Given the description of an element on the screen output the (x, y) to click on. 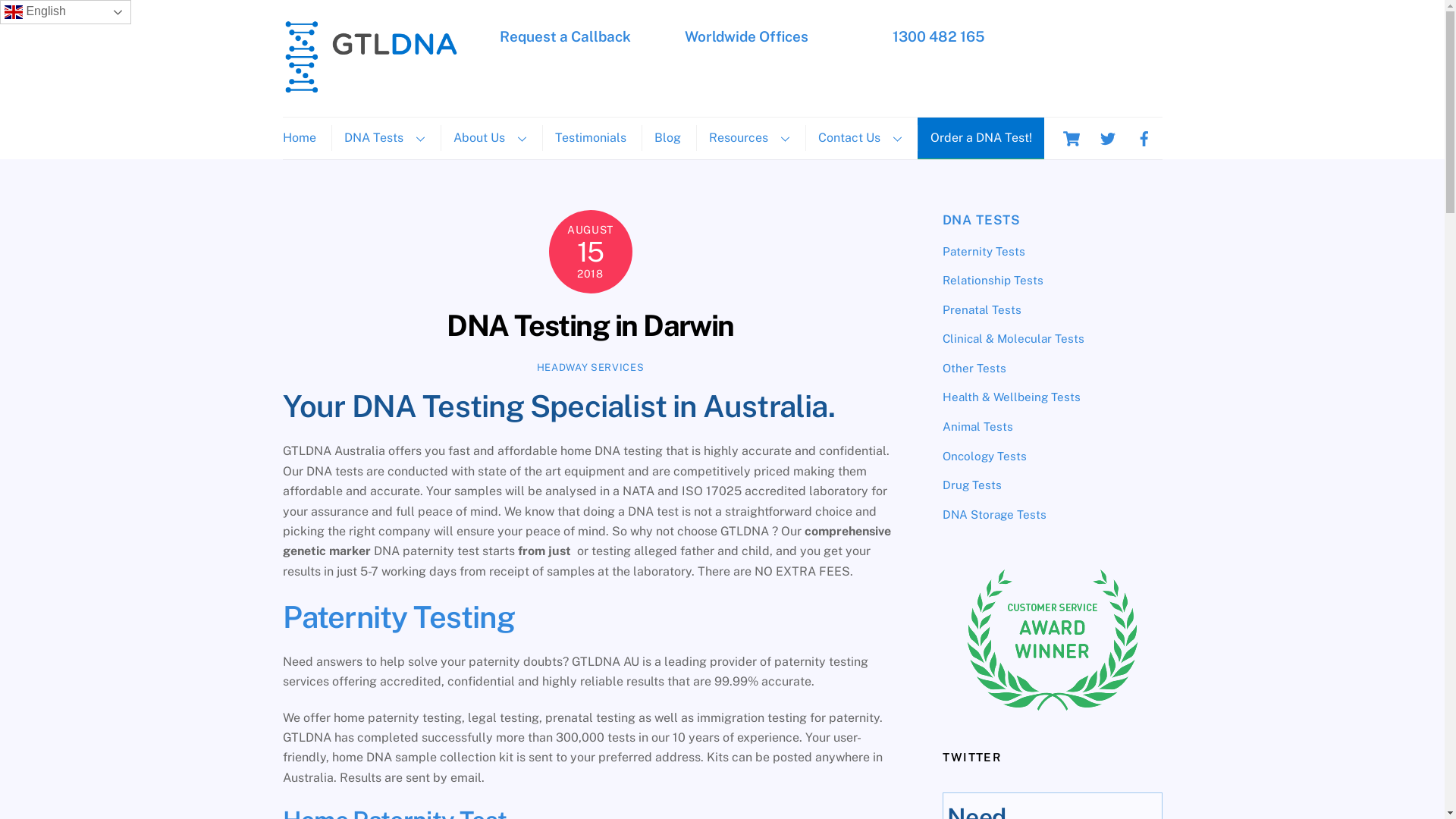
Paternity Testing Element type: text (398, 616)
Health & Wellbeing Tests Element type: text (1010, 396)
Clinical & Molecular Tests Element type: text (1012, 338)
Testimonials Element type: text (589, 137)
Contact Us Element type: text (859, 137)
DNA Tests Element type: text (383, 137)
Worldwide Offices Element type: text (746, 36)
DNA Storage Tests Element type: text (993, 514)
English Element type: text (65, 12)
Animal Tests Element type: text (976, 426)
Other Tests Element type: text (973, 367)
Resources Element type: text (749, 137)
Home Element type: text (304, 137)
GTLDNA AU Element type: hover (370, 86)
Paternity Tests Element type: text (982, 250)
DNA TESTS Element type: text (980, 219)
Order a DNA Test! Element type: text (980, 137)
Blog Element type: text (667, 137)
About Us Element type: text (488, 137)
Request a Callback Element type: text (564, 36)
Cart Element type: text (1070, 137)
Prenatal Tests Element type: text (980, 309)
 1300 482 165 Element type: text (937, 36)
Relationship Tests Element type: text (991, 279)
gtldna-logo-dark-CROPPED Element type: hover (370, 56)
Oncology Tests Element type: text (983, 454)
DNA Testing in Darwin Element type: text (590, 325)
Drug Tests Element type: text (971, 484)
HEADWAY SERVICES Element type: text (589, 367)
